Given the description of an element on the screen output the (x, y) to click on. 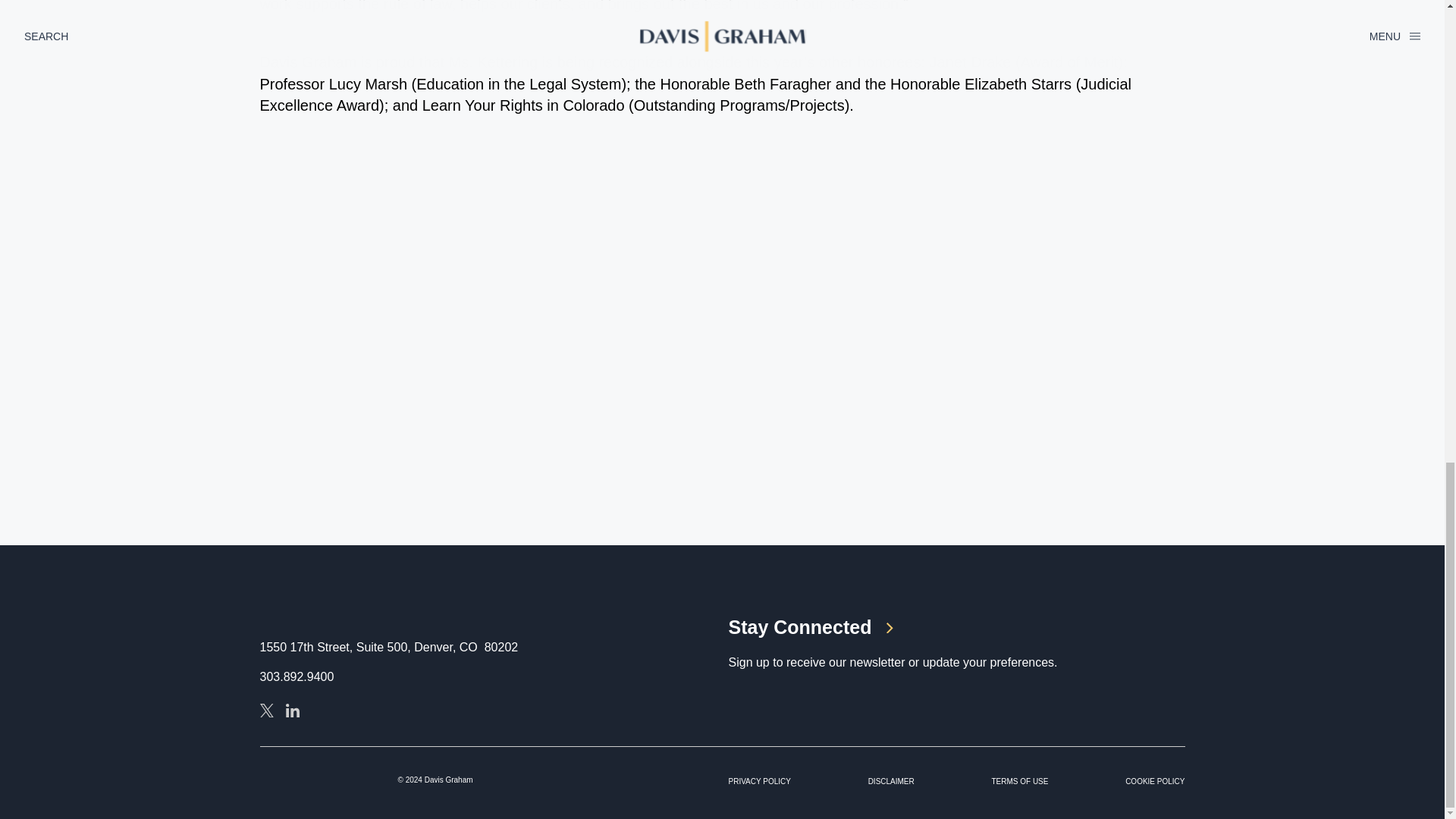
COOKIE POLICY (1155, 781)
PRIVACY POLICY (759, 781)
Stay Connected (956, 627)
DISCLAIMER (890, 781)
TERMS OF USE (1019, 781)
303.892.9400 (296, 676)
